Given the description of an element on the screen output the (x, y) to click on. 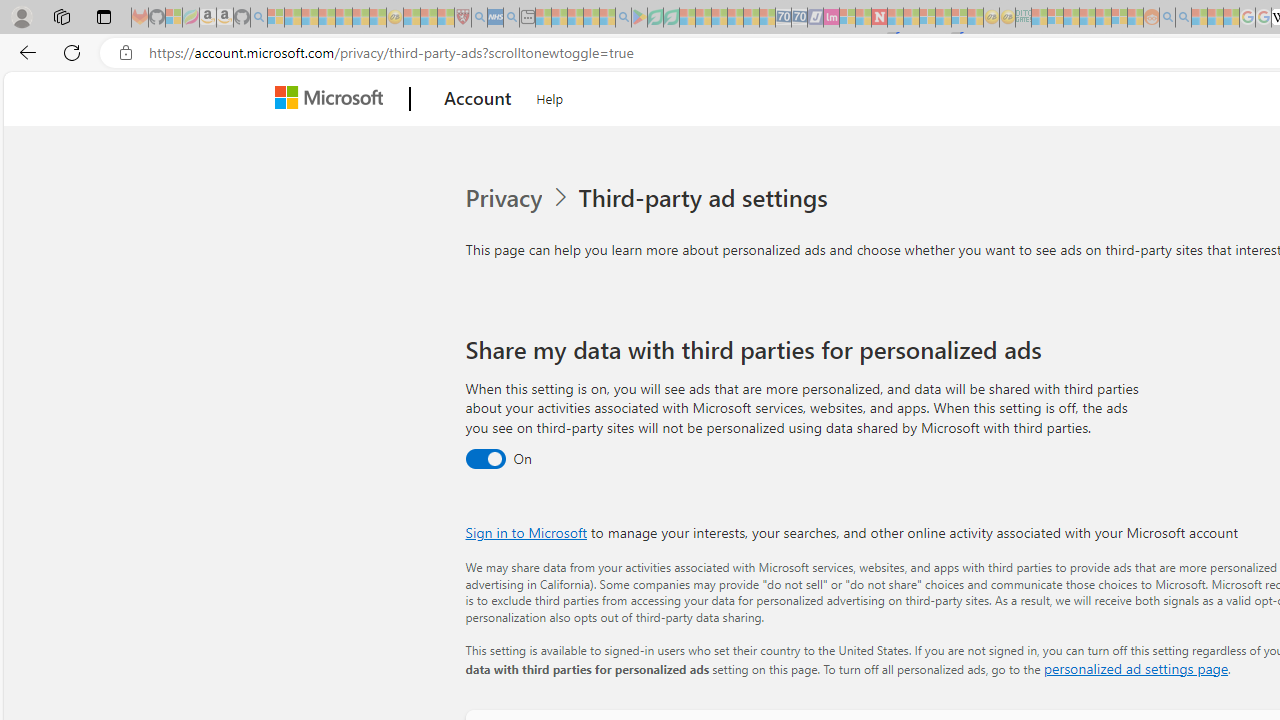
Third party data sharing toggle (484, 459)
Third-party ad settings (706, 197)
Sign in to Microsoft (525, 532)
